Given the description of an element on the screen output the (x, y) to click on. 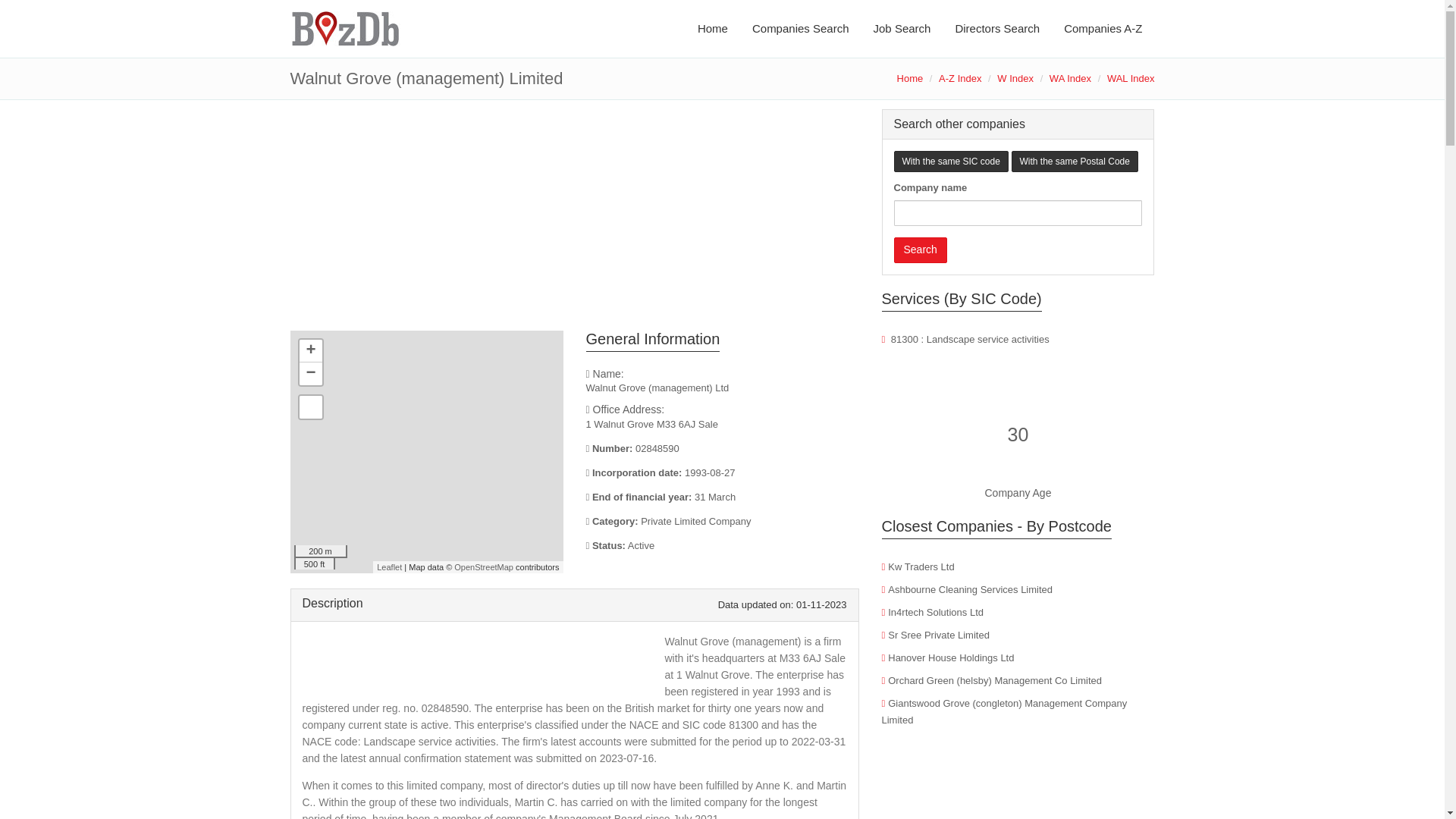
WAL Index (1130, 78)
The company is currently active (722, 545)
Companies Search (800, 28)
Zoom out (309, 373)
Job Search (902, 28)
Home (909, 78)
Directors Search (996, 28)
WA Index (1069, 78)
Zoom in (309, 350)
WAL Index (1130, 78)
A-Z Index (960, 78)
W Index (1015, 78)
A-Z Index (960, 78)
